Given the description of an element on the screen output the (x, y) to click on. 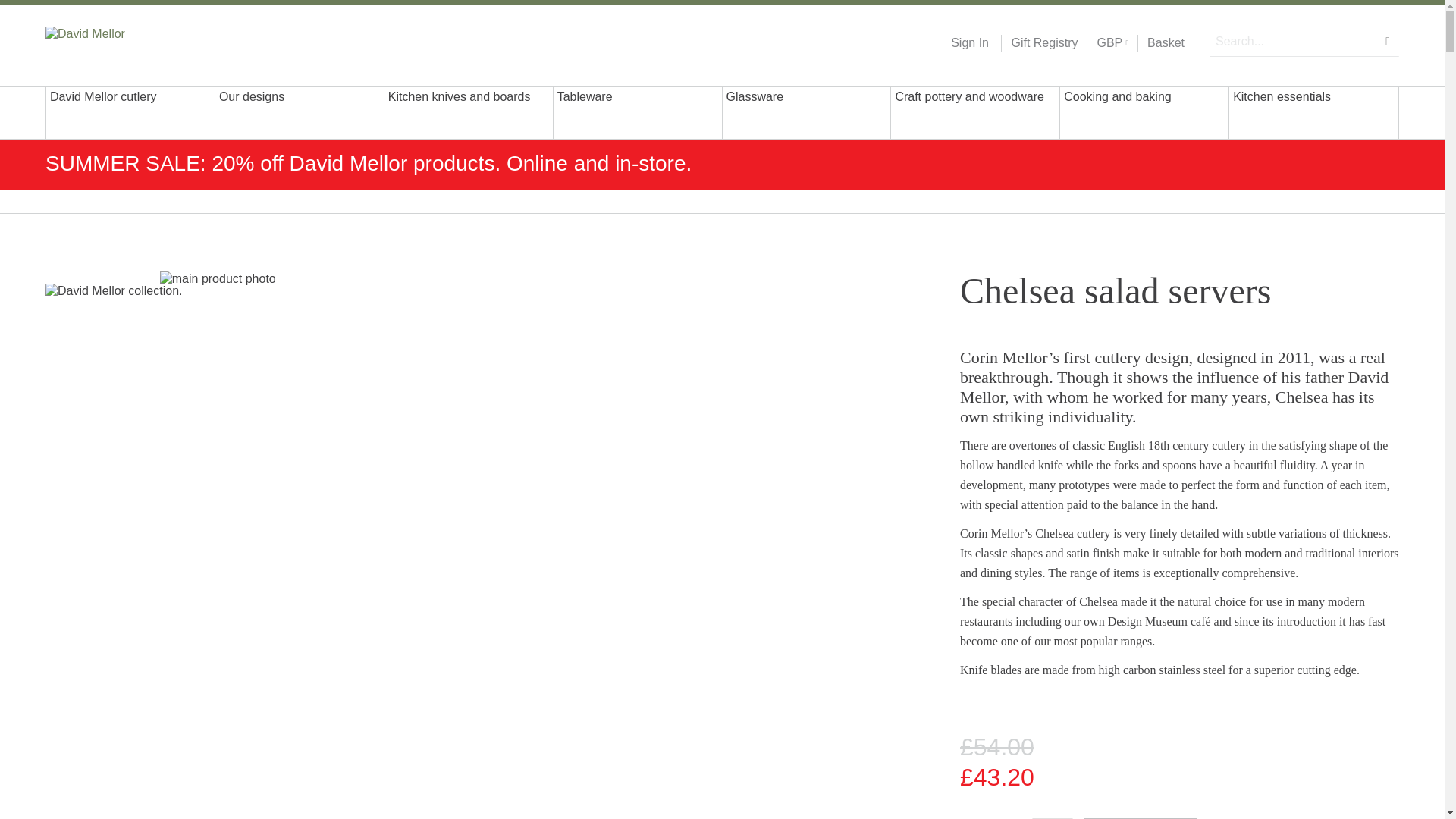
David Mellor (143, 42)
Basket (1166, 43)
Sign In (969, 43)
Search (1388, 41)
1 (1052, 818)
Search (1388, 41)
Gift Registry (1039, 43)
Qty (1052, 818)
David Mellor cutlery (130, 112)
